Given the description of an element on the screen output the (x, y) to click on. 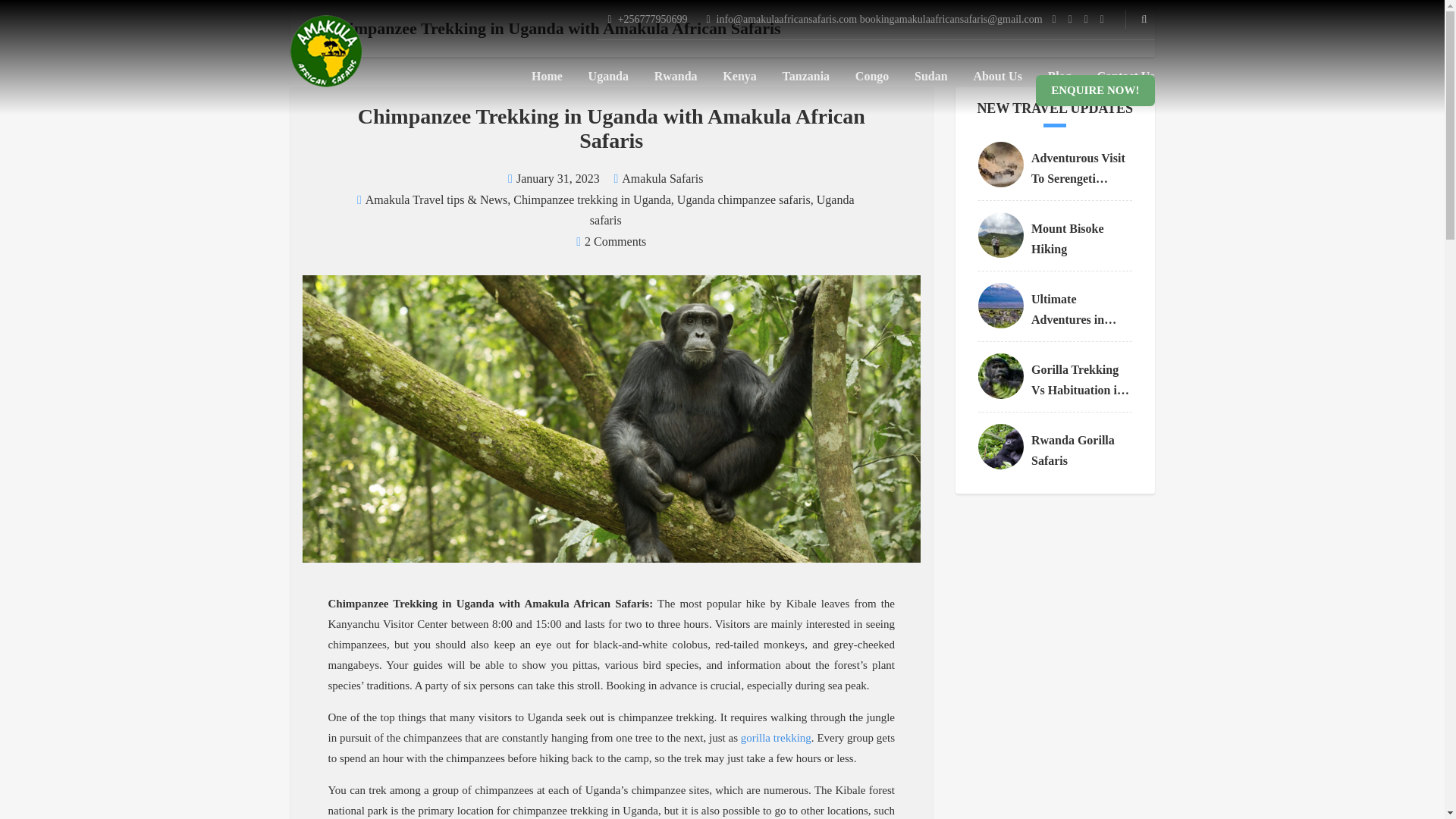
2 Comments (615, 241)
Blog (1059, 75)
Uganda (608, 75)
January 31, 2023 (557, 178)
ENQUIRE NOW! (1094, 90)
Sudan (930, 75)
Uganda safaris (721, 209)
About Us (997, 75)
Contact Us (1125, 75)
Amakula Safaris (662, 178)
Uganda chimpanzee safaris (743, 199)
Chimpanzee trekking in Uganda (592, 199)
Kenya (738, 75)
Congo (872, 75)
gorilla trekking (775, 738)
